Given the description of an element on the screen output the (x, y) to click on. 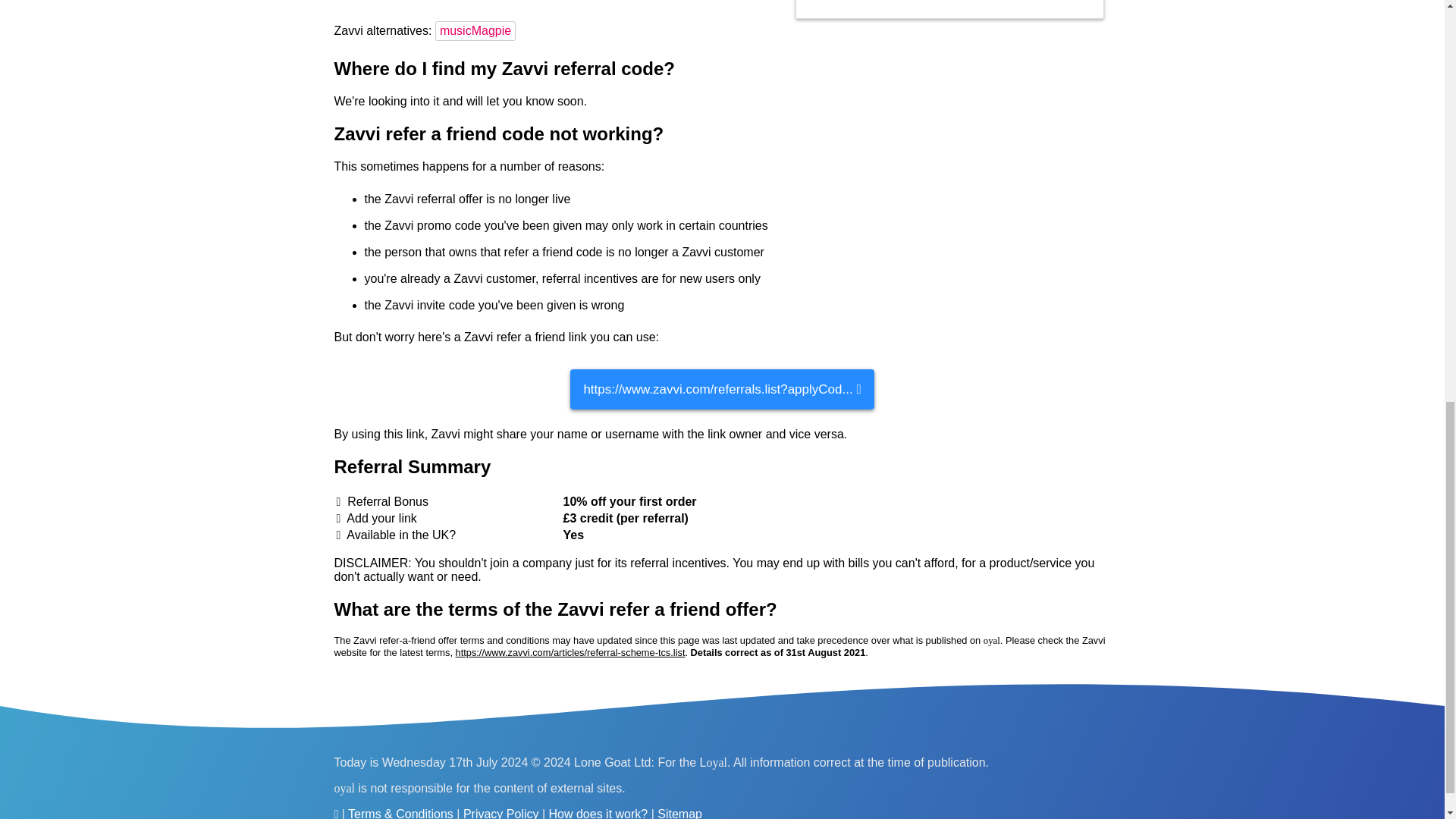
Privacy Policy (500, 813)
How does it work? (597, 813)
musicMagpie (477, 30)
The oyal twitter account (335, 813)
Sitemap (679, 813)
